Given the description of an element on the screen output the (x, y) to click on. 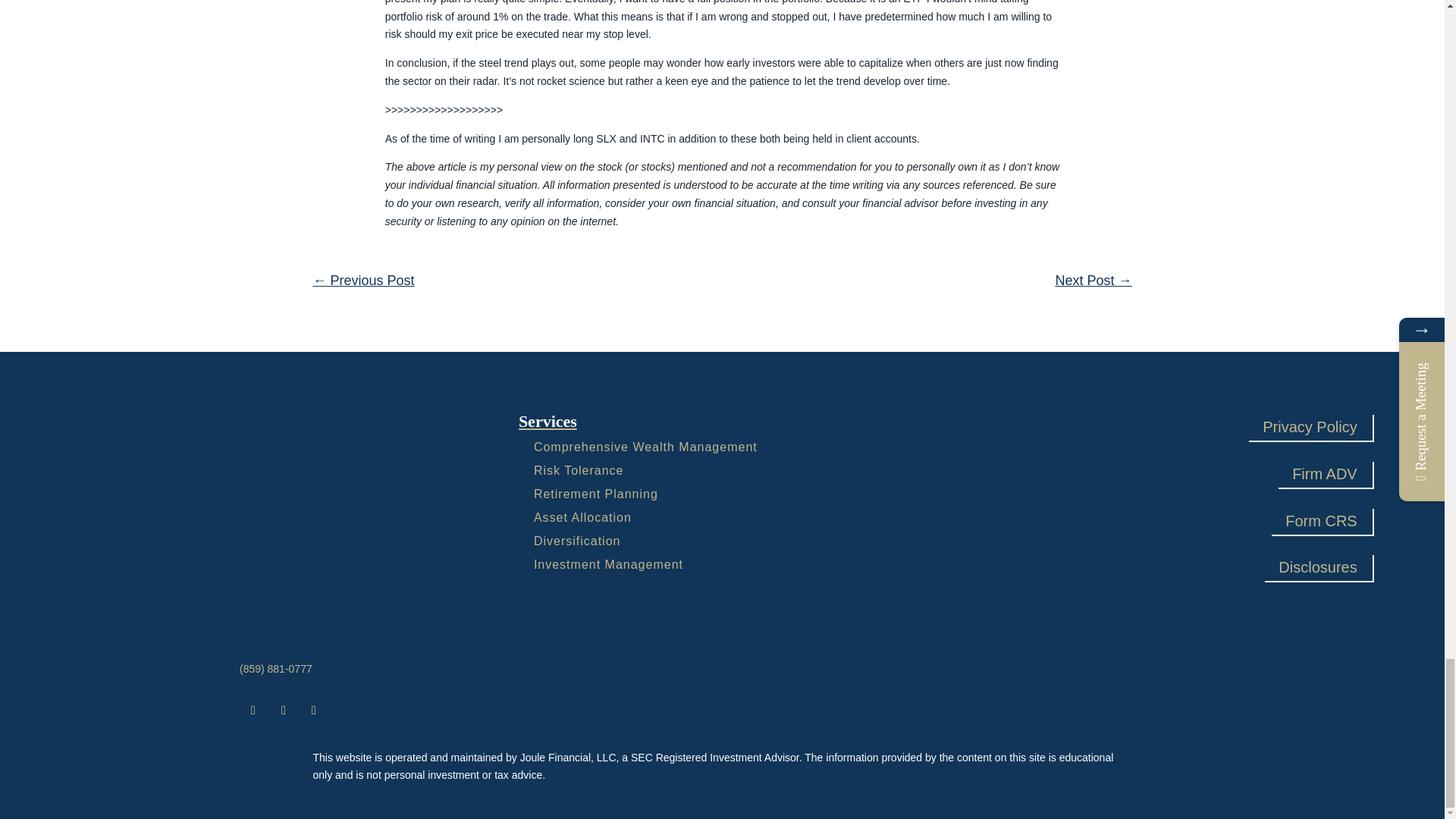
Privacy Policy (1309, 426)
Firm ADV (1324, 473)
Comprehensive Wealth Management (645, 446)
Follow on LinkedIn (313, 710)
Disclosures (1317, 566)
Follow on X (282, 710)
Form CRS (1320, 520)
Risk Tolerance (579, 470)
Investment Management (608, 563)
Retirement Planning (596, 493)
Asset Allocation (582, 517)
Follow on Facebook (252, 710)
Diversification (577, 540)
